Given the description of an element on the screen output the (x, y) to click on. 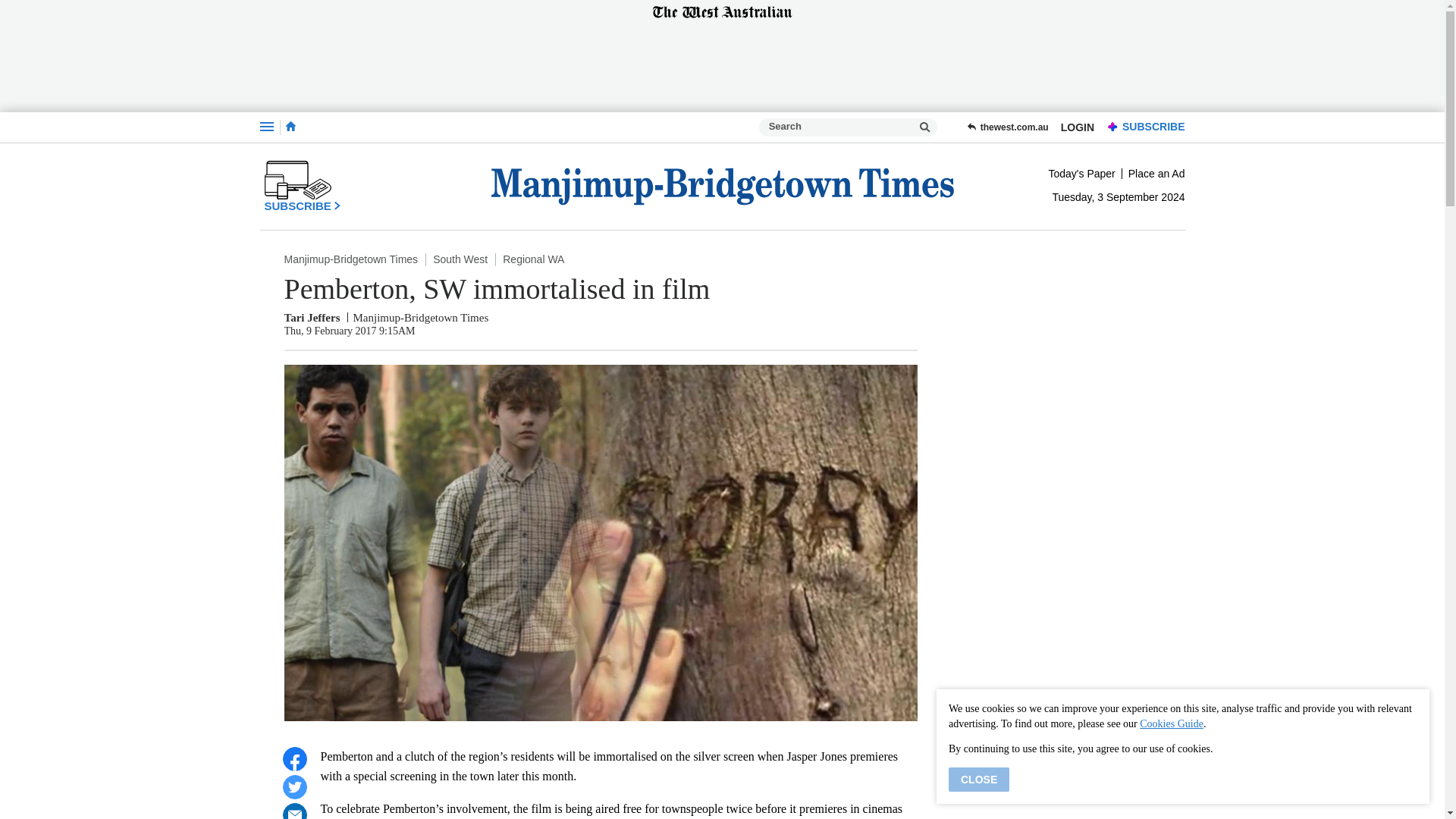
Home (290, 126)
PREMIUMSUBSCRIBE (1142, 127)
PREMIUM (1112, 126)
LOGIN (1077, 127)
SUBSCRIBE CHEVRON RIGHT ICON (302, 185)
thewest.com.au (1007, 127)
Home (290, 126)
Please enter a search term. (924, 127)
